Given the description of an element on the screen output the (x, y) to click on. 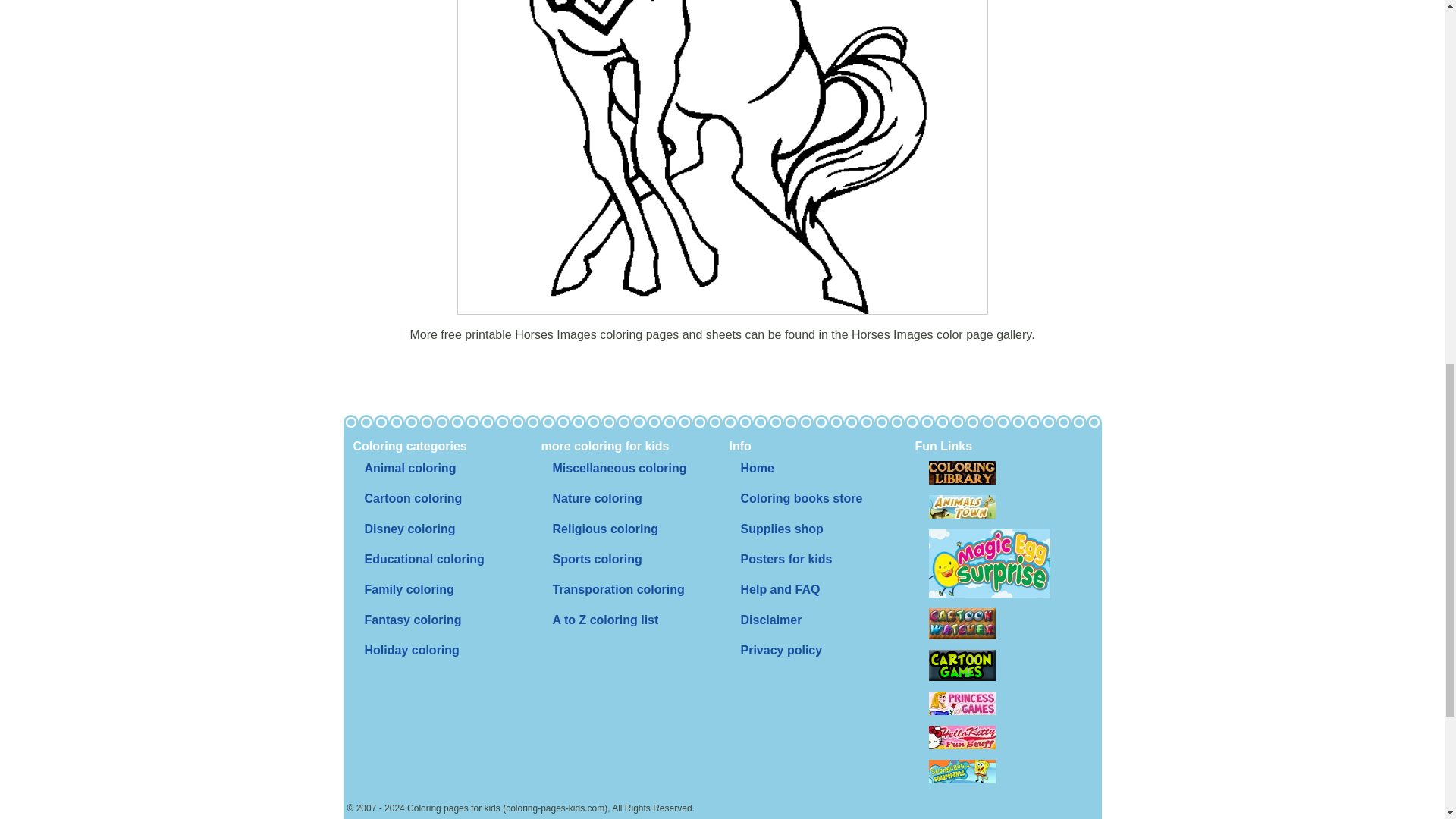
Coloring books store (801, 499)
Princess Games (961, 702)
Supplies shop (780, 529)
A to Z coloring list (604, 620)
Sports coloring (596, 559)
Hello Kitty Fun Stuff Downloads (961, 737)
Nature coloring (596, 499)
Animals Town. Explore animals by visiting their islands. (961, 506)
Disclaimer (770, 620)
Miscellaneous coloring (619, 468)
Posters for kids (785, 559)
Educational coloring (423, 559)
Holiday coloring (410, 650)
Fantasy coloring (412, 620)
